Given the description of an element on the screen output the (x, y) to click on. 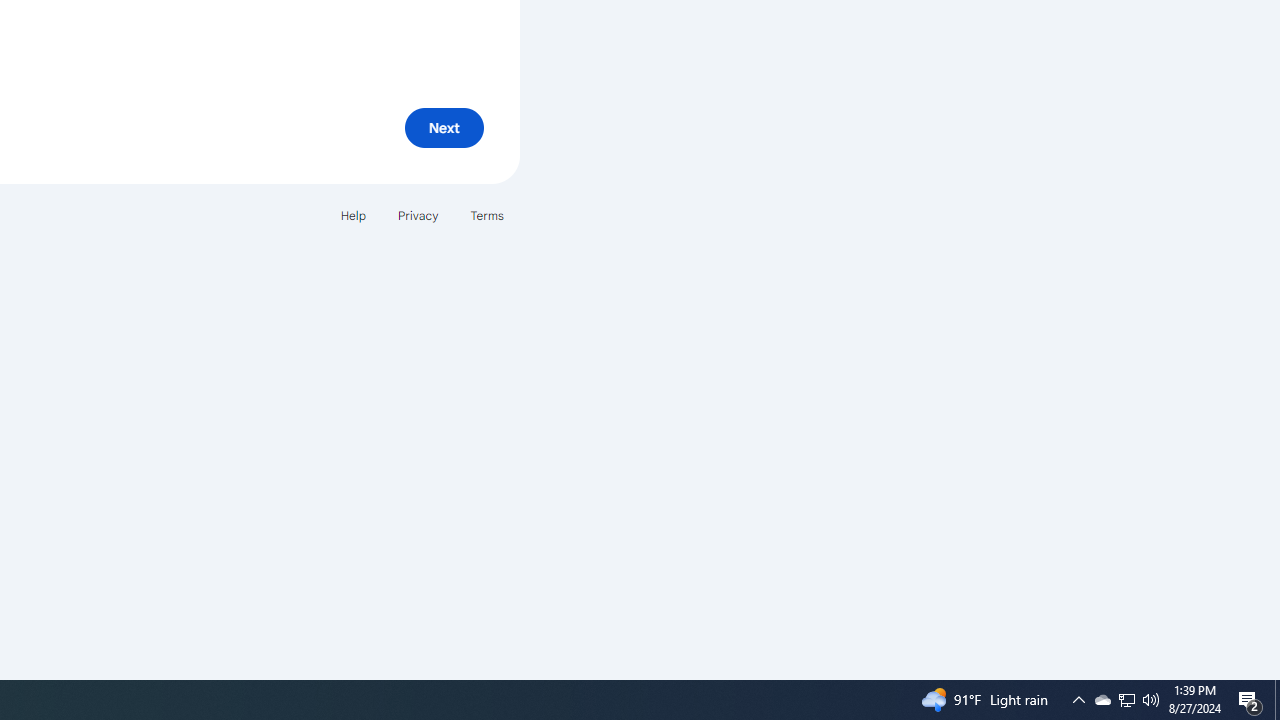
Help (352, 214)
Terms (486, 214)
Next (443, 127)
Privacy (417, 214)
